Given the description of an element on the screen output the (x, y) to click on. 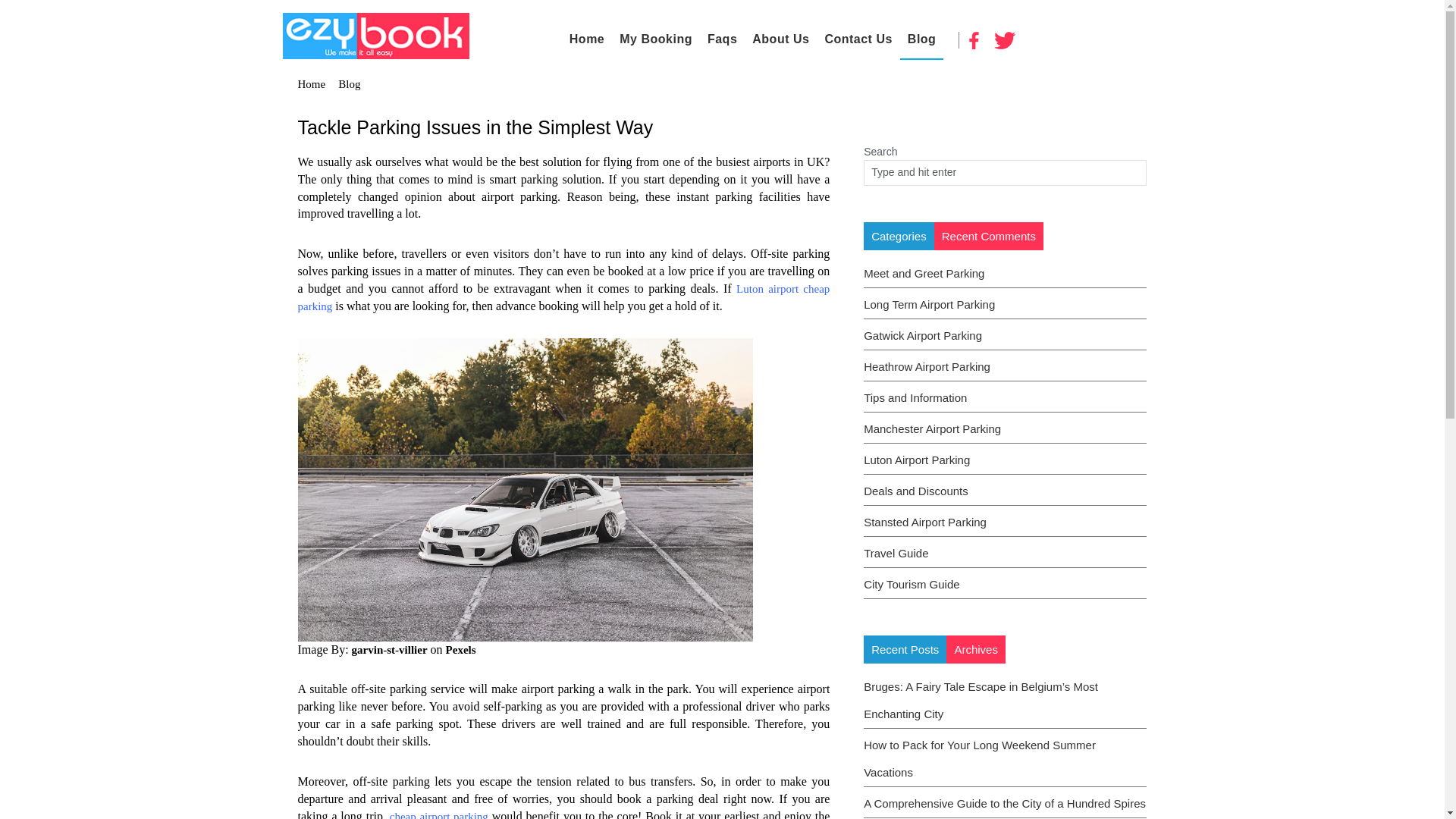
Meet and Greet Parking (923, 273)
Type and hit enter (952, 172)
Gatwick Airport Parking (922, 335)
Home (586, 39)
A Comprehensive Guide to the City of a Hundred Spires (1004, 802)
Blog (921, 39)
Long Term Airport Parking (928, 304)
My Booking (655, 39)
Manchester Airport Parking (932, 428)
Luton Airport Parking (916, 459)
